Given the description of an element on the screen output the (x, y) to click on. 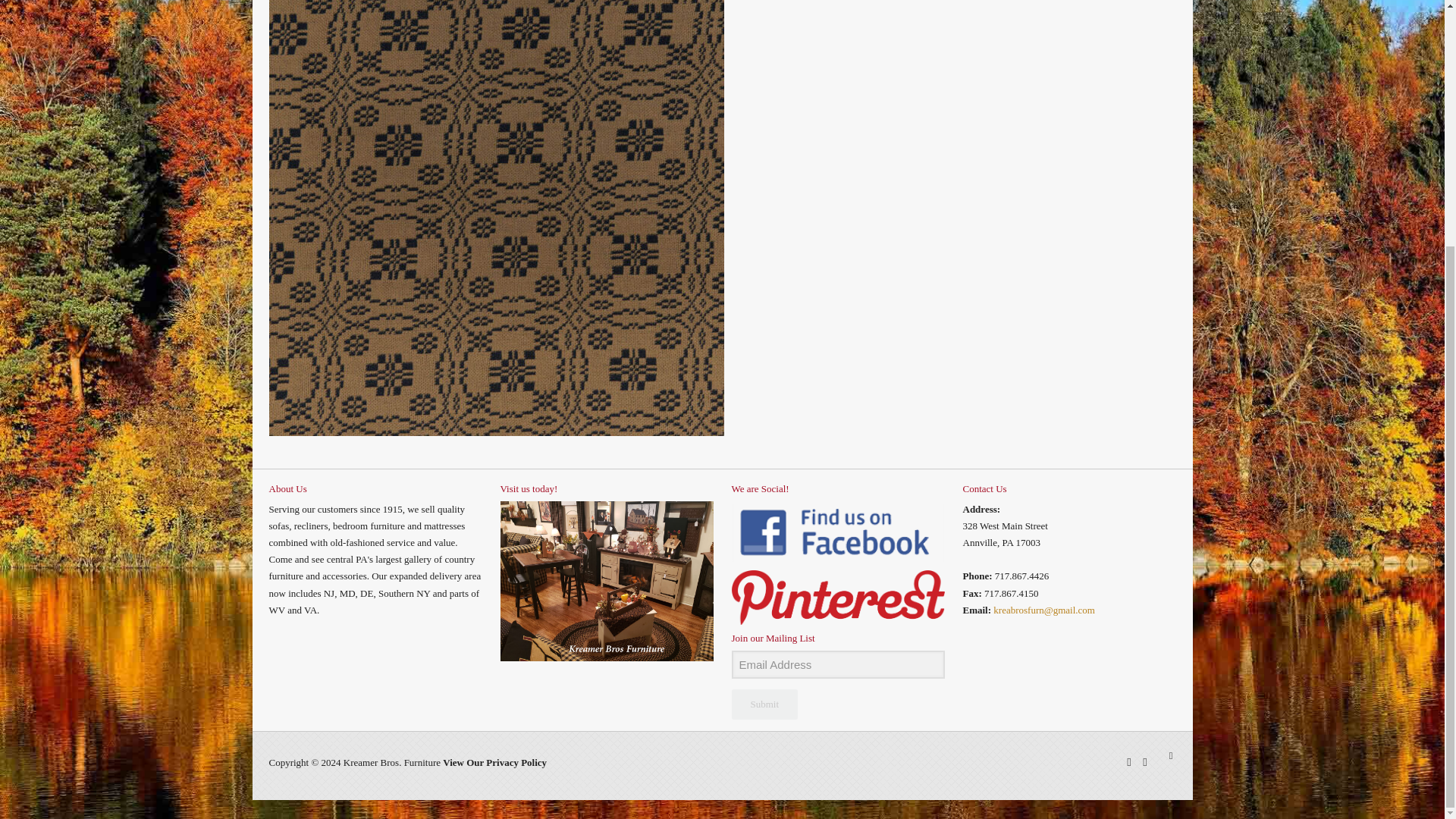
Facebook (1129, 761)
Submit (763, 704)
View Our Privacy Policy (494, 762)
Pinterest (1144, 761)
